Given the description of an element on the screen output the (x, y) to click on. 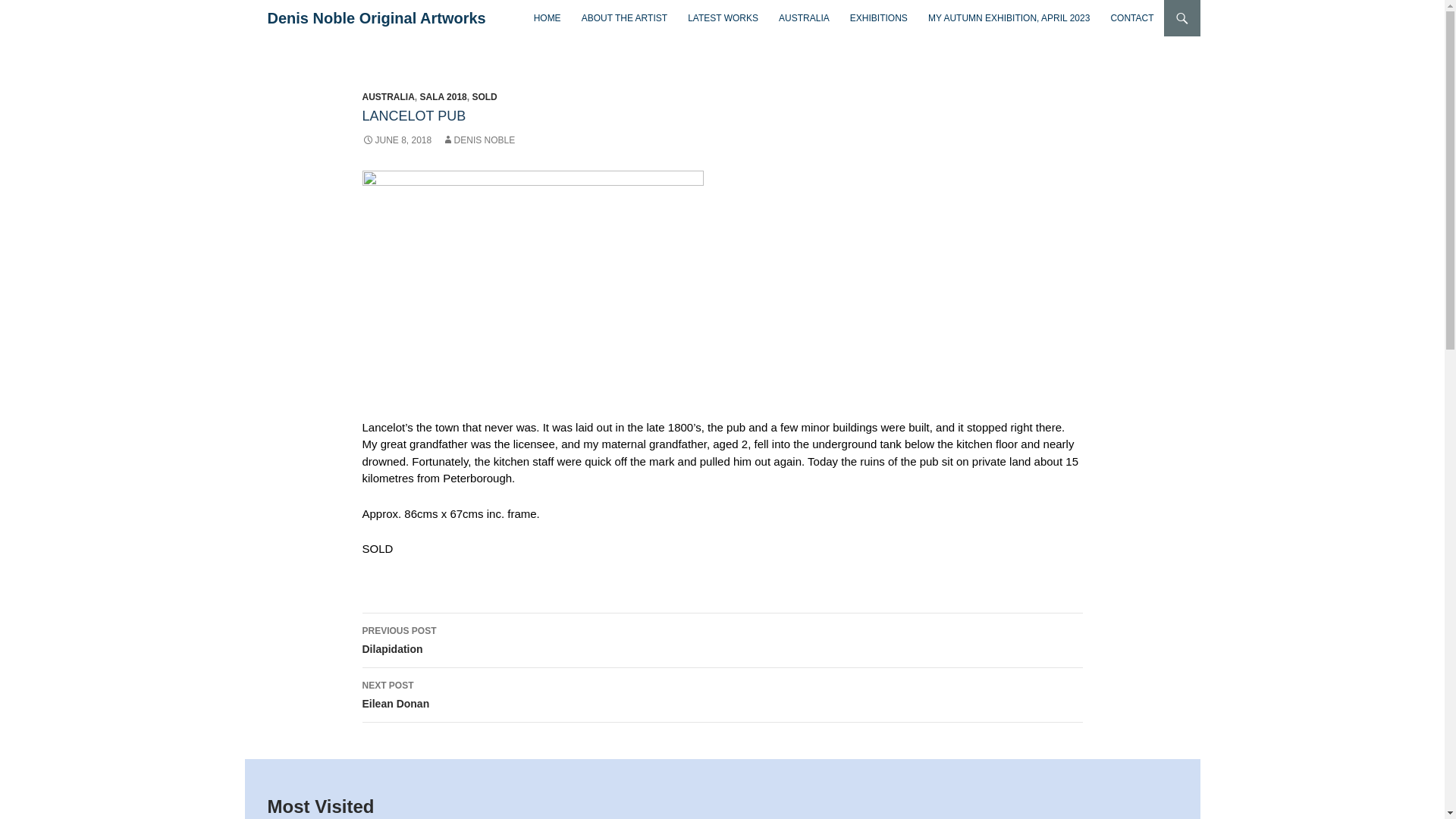
Denis Noble Original Artworks Element type: text (375, 18)
HOME Element type: text (547, 18)
Search Element type: text (248, 0)
CONTACT Element type: text (1131, 18)
NEXT POST
Eilean Donan Element type: text (722, 695)
AUSTRALIA Element type: text (388, 96)
DENIS NOBLE Element type: text (478, 139)
SOLD Element type: text (483, 96)
ABOUT THE ARTIST Element type: text (624, 18)
EXHIBITIONS Element type: text (878, 18)
SKIP TO CONTENT Element type: text (533, 0)
SALA 2018 Element type: text (443, 96)
LATEST WORKS Element type: text (722, 18)
MY AUTUMN EXHIBITION, APRIL 2023 Element type: text (1008, 18)
JUNE 8, 2018 Element type: text (397, 139)
PREVIOUS POST
Dilapidation Element type: text (722, 640)
AUSTRALIA Element type: text (803, 18)
